Given the description of an element on the screen output the (x, y) to click on. 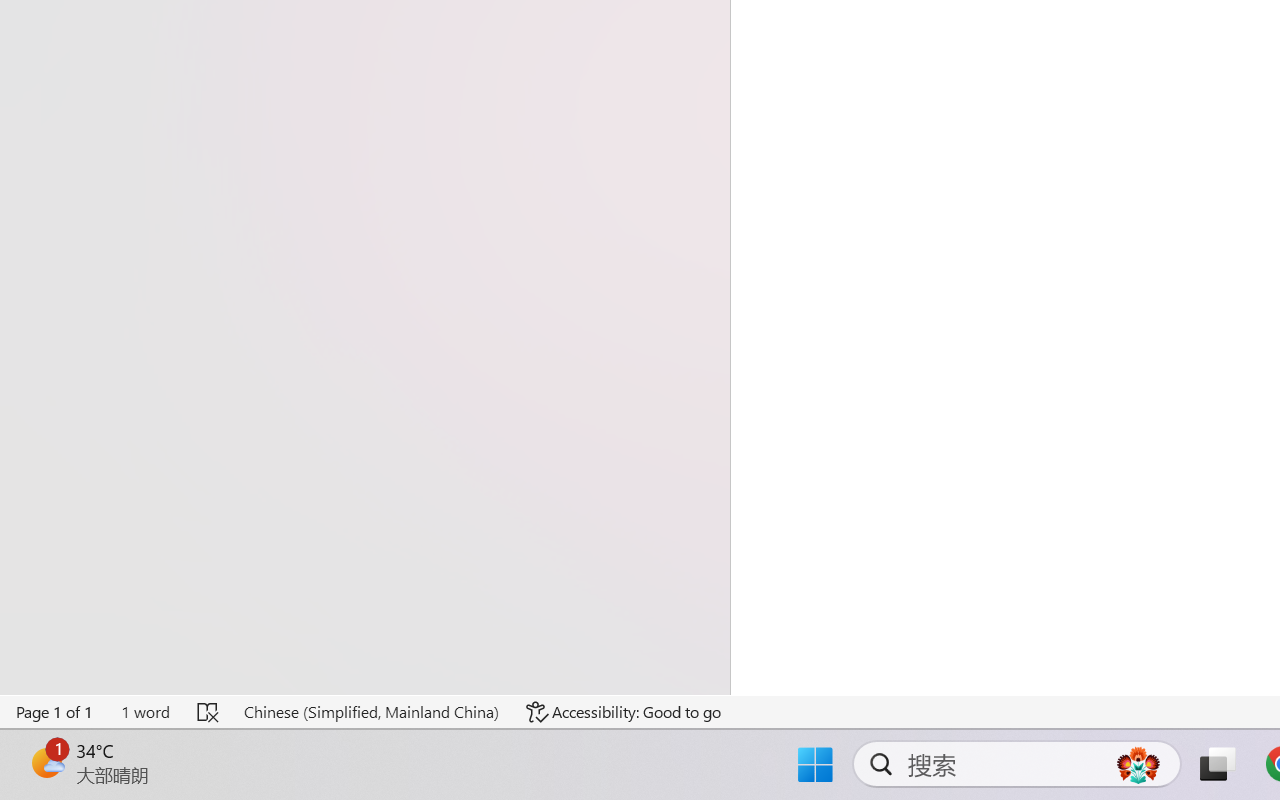
Language Chinese (Simplified, Mainland China) (370, 712)
Spelling and Grammar Check Errors (208, 712)
